Given the description of an element on the screen output the (x, y) to click on. 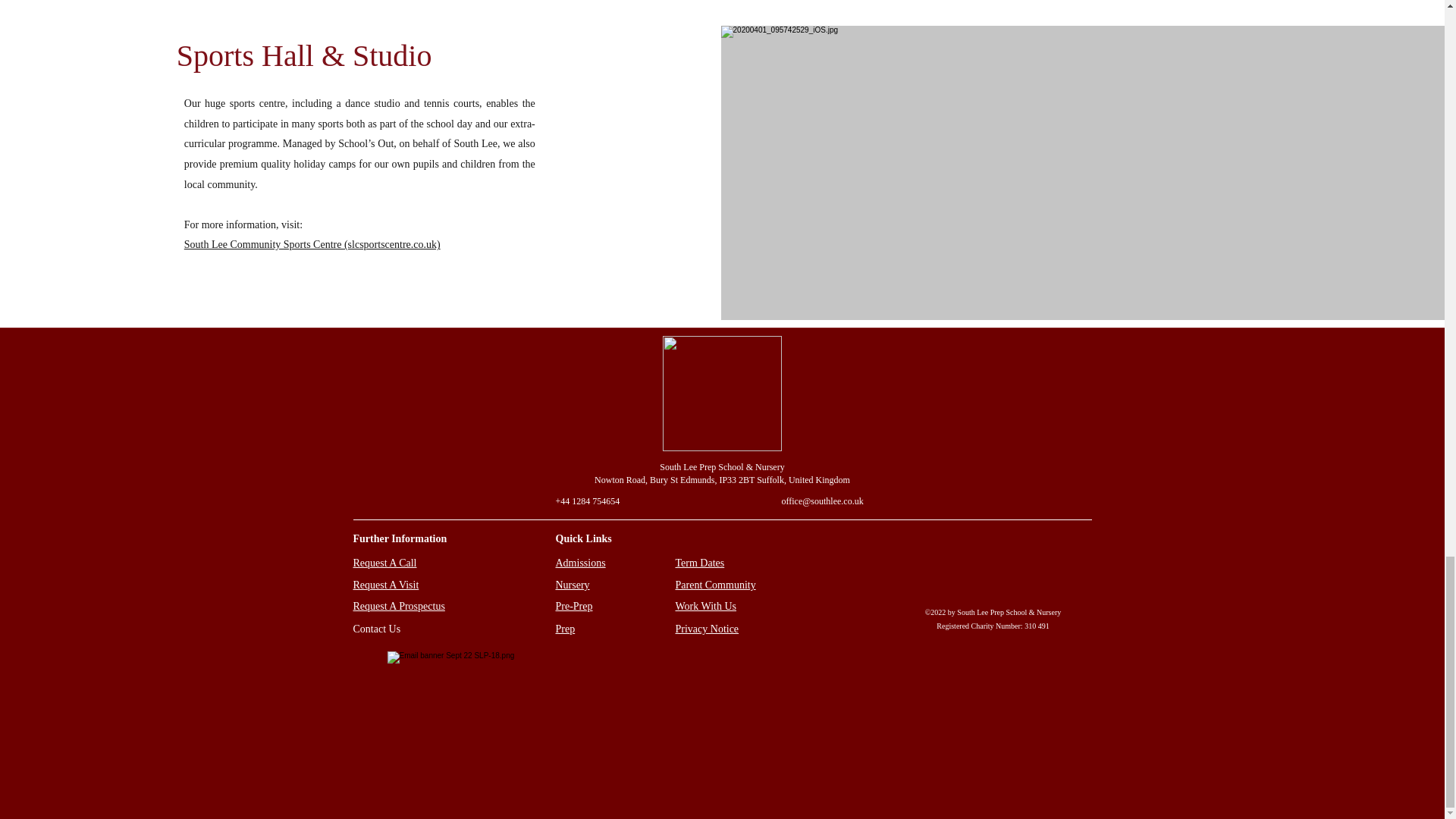
Request A Call (384, 562)
